Given the description of an element on the screen output the (x, y) to click on. 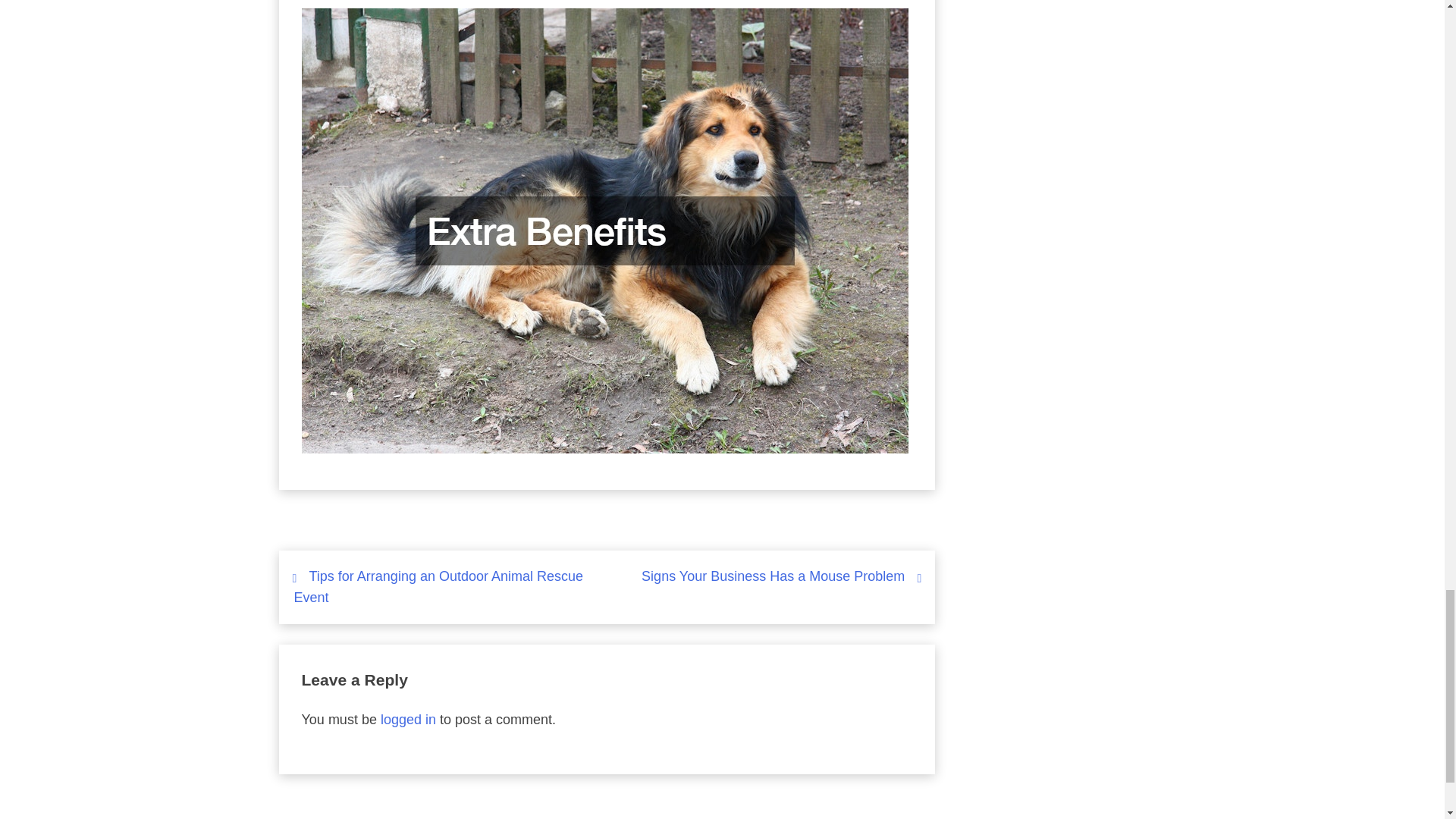
Signs Your Business Has a Mouse Problem (773, 575)
Tips for Arranging an Outdoor Animal Rescue Event (438, 587)
logged in (407, 719)
